Given the description of an element on the screen output the (x, y) to click on. 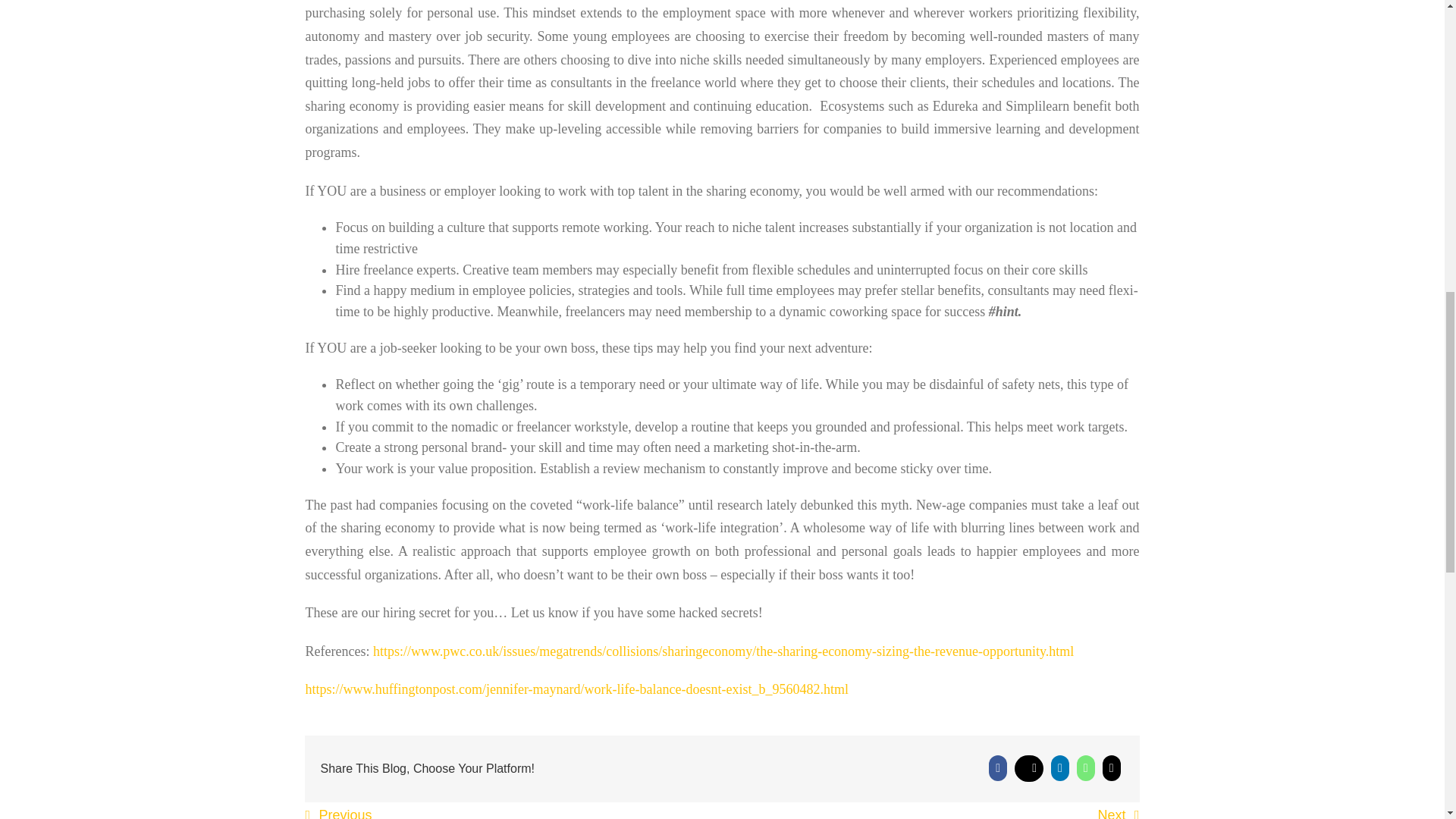
X (1028, 768)
Facebook (997, 768)
LinkedIn (1059, 768)
Email (1111, 768)
WhatsApp (1086, 768)
